Given the description of an element on the screen output the (x, y) to click on. 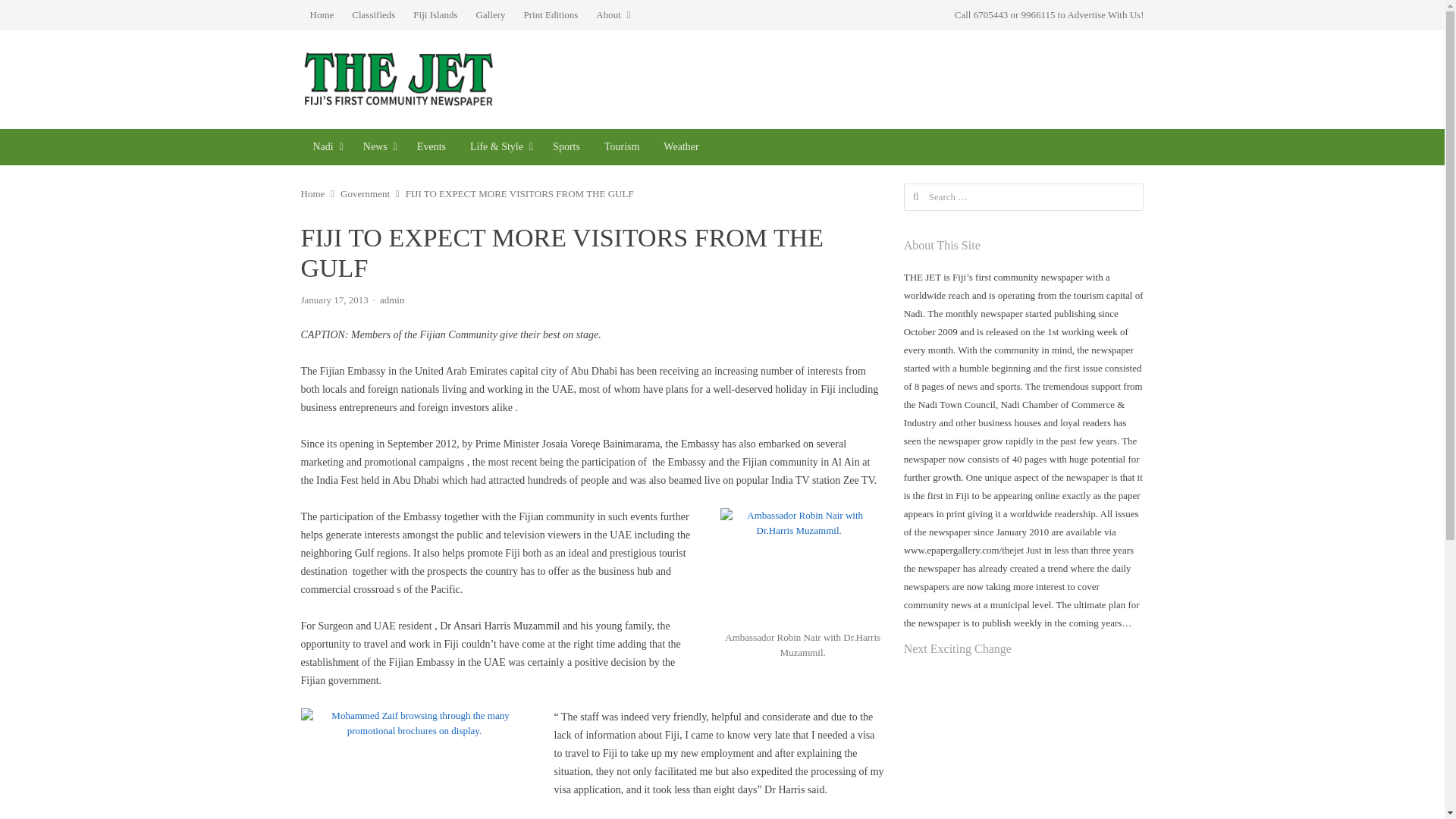
Fiji Islands (434, 14)
NADI CDN (324, 146)
Home (320, 14)
About (612, 14)
Print Editions (549, 14)
Classifieds (373, 14)
Gallery (491, 14)
